Given the description of an element on the screen output the (x, y) to click on. 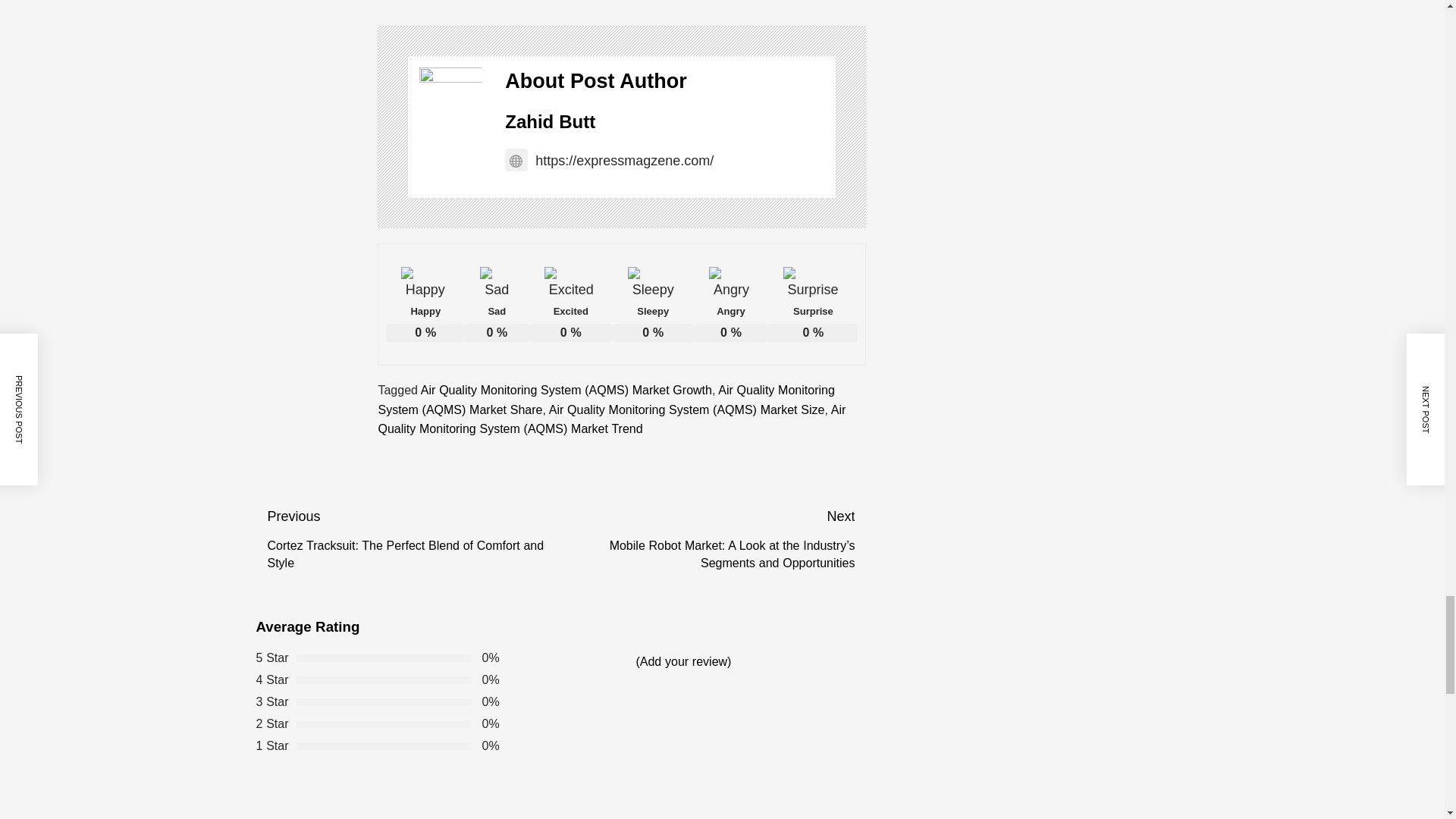
Zahid Butt (550, 121)
